Given the description of an element on the screen output the (x, y) to click on. 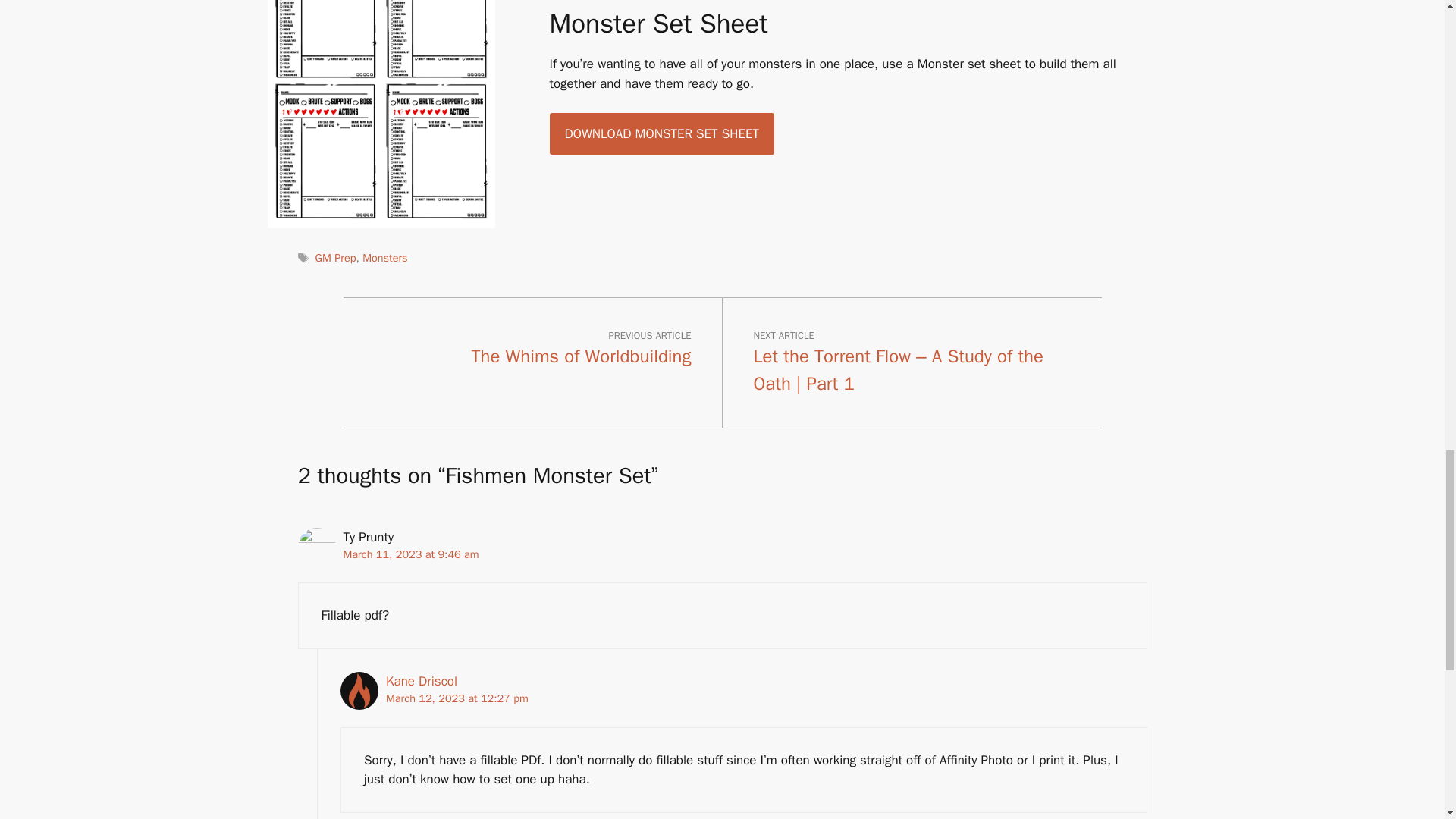
PREVIOUS ARTICLE (649, 335)
March 12, 2023 at 12:27 pm (456, 698)
DOWNLOAD MONSTER SET SHEET (660, 134)
March 11, 2023 at 9:46 am (410, 554)
NEXT ARTICLE (783, 335)
Monsters (384, 257)
Kane Driscol (421, 681)
The Whims of Worldbuilding (581, 355)
GM Prep (335, 257)
